Given the description of an element on the screen output the (x, y) to click on. 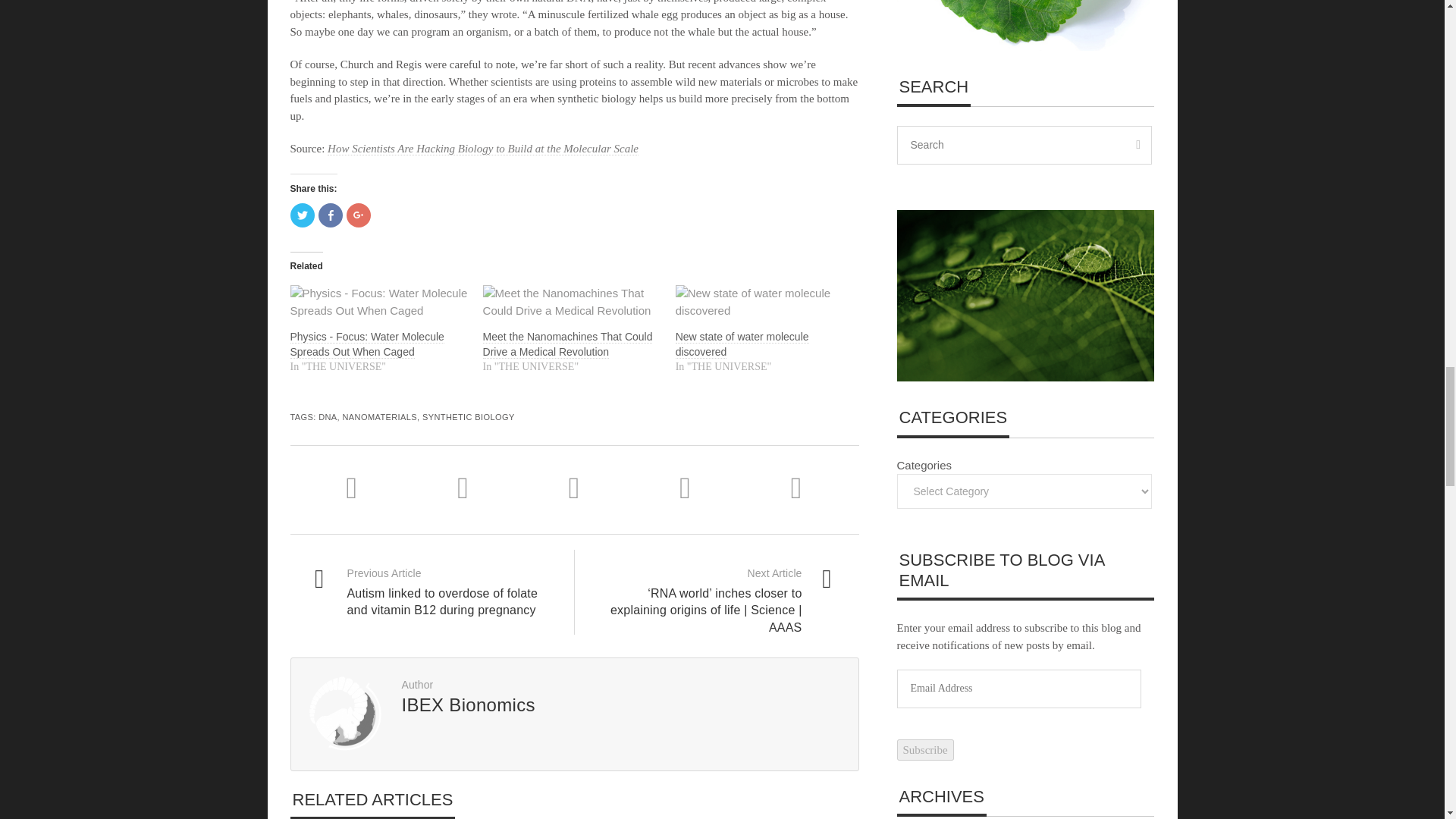
Meet the Nanomachines That Could Drive a Medical Revolution (567, 344)
Physics - Focus: Water Molecule Spreads Out When Caged (366, 344)
Search (1023, 145)
DNA (327, 416)
Click to share on Facebook (330, 215)
New state of water molecule discovered (742, 344)
Click to share on Twitter (301, 215)
Subscribe (924, 750)
SYNTHETIC BIOLOGY (468, 416)
NANOMATERIALS (379, 416)
